Given the description of an element on the screen output the (x, y) to click on. 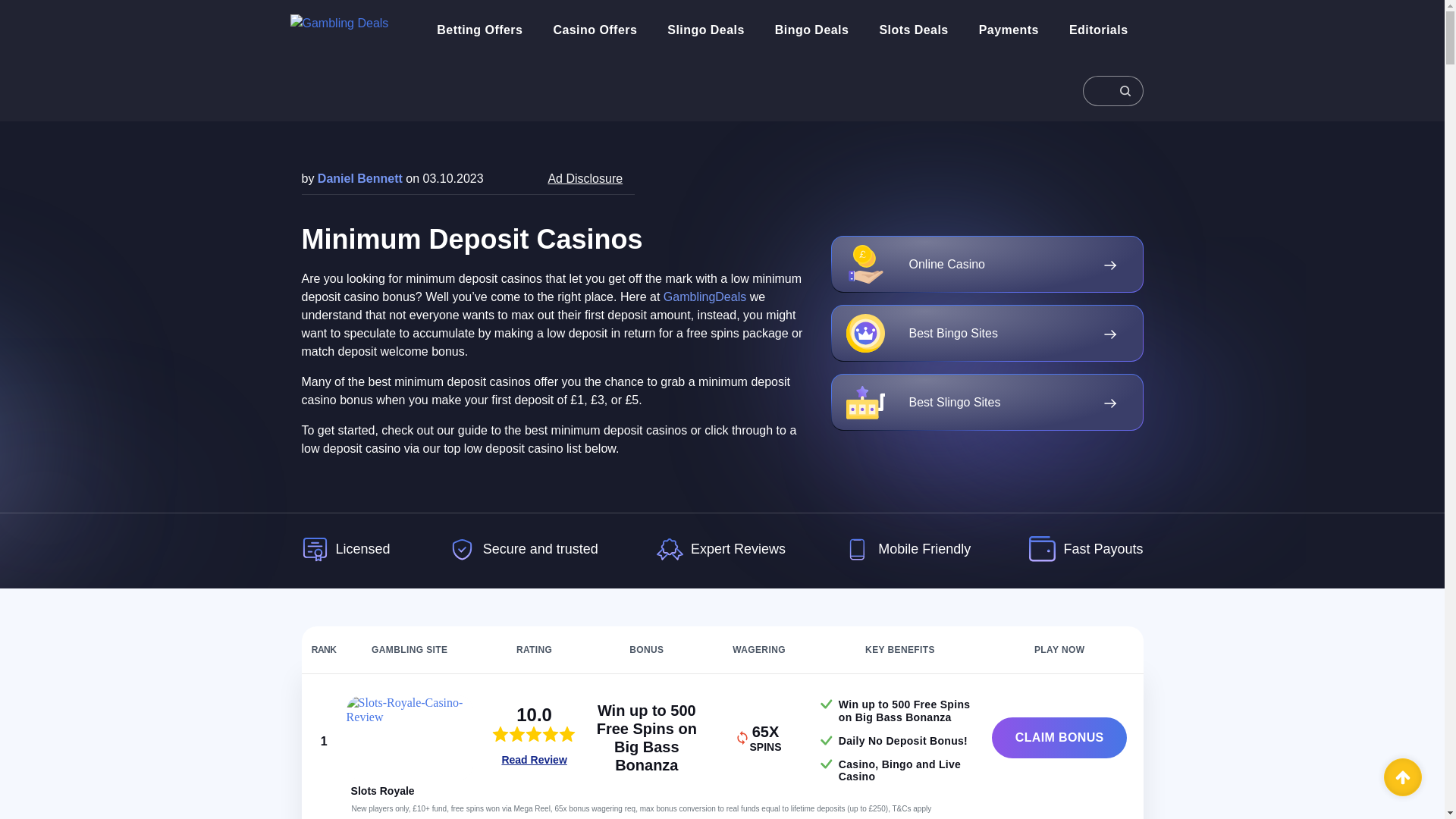
Slots Royale (382, 790)
Slots Royale (382, 790)
Editorials (1098, 30)
Slots Deals (913, 30)
Ad Disclosure (584, 178)
Online Casino (986, 263)
Slingo Deals (705, 30)
CLAIM BONUS (1058, 737)
Read Review (533, 759)
Search (1112, 90)
Best Bingo Sites (986, 332)
Payments (1008, 30)
Slots Royale (409, 737)
Ad Disclosure (584, 178)
Betting Offers (479, 30)
